Given the description of an element on the screen output the (x, y) to click on. 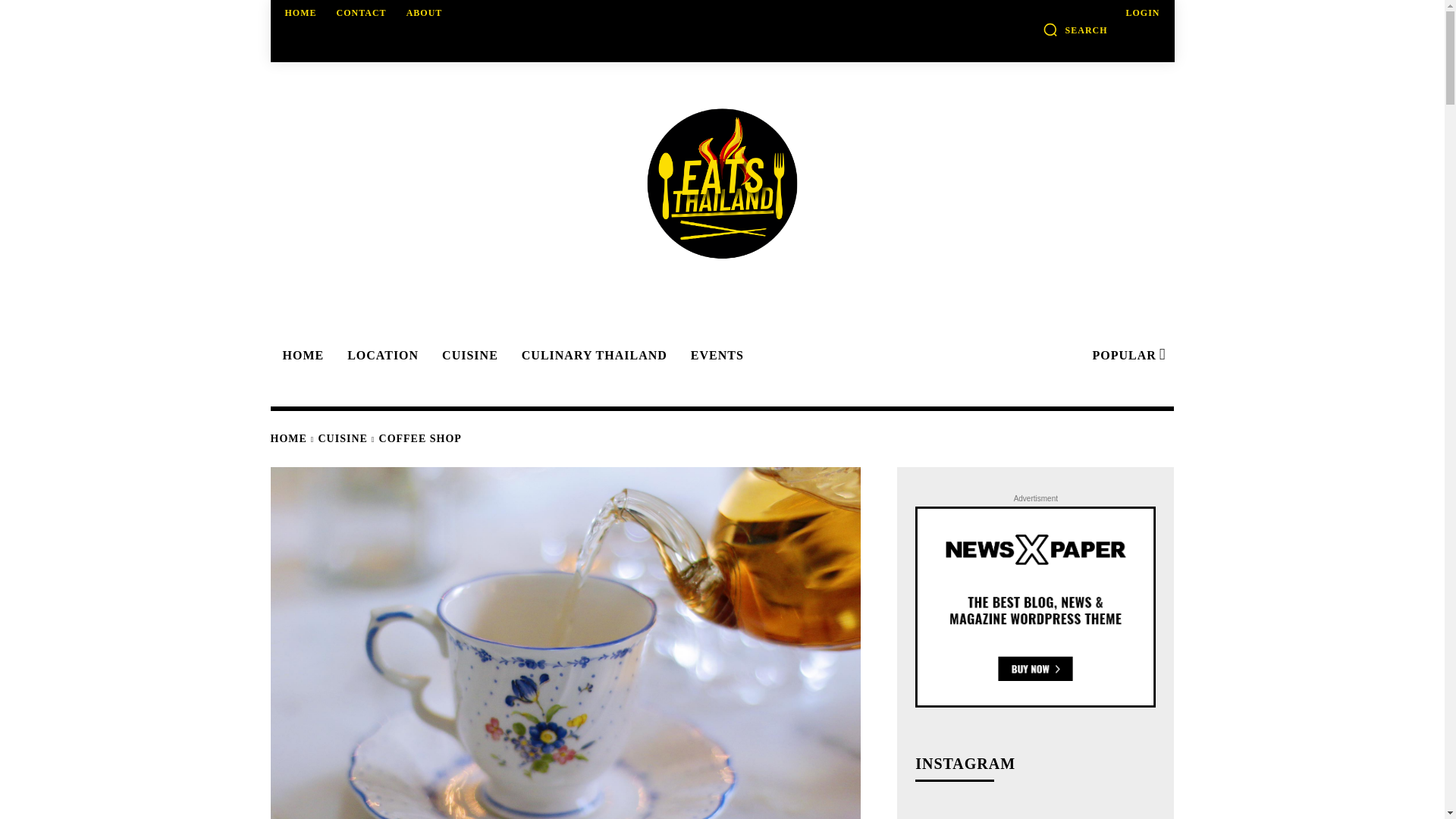
SEARCH (1075, 29)
LOGIN (1141, 12)
POPULAR (1126, 355)
CONTACT (361, 12)
HOME (301, 12)
ABOUT (423, 12)
HOME (300, 355)
LOCATION (380, 355)
